Given the description of an element on the screen output the (x, y) to click on. 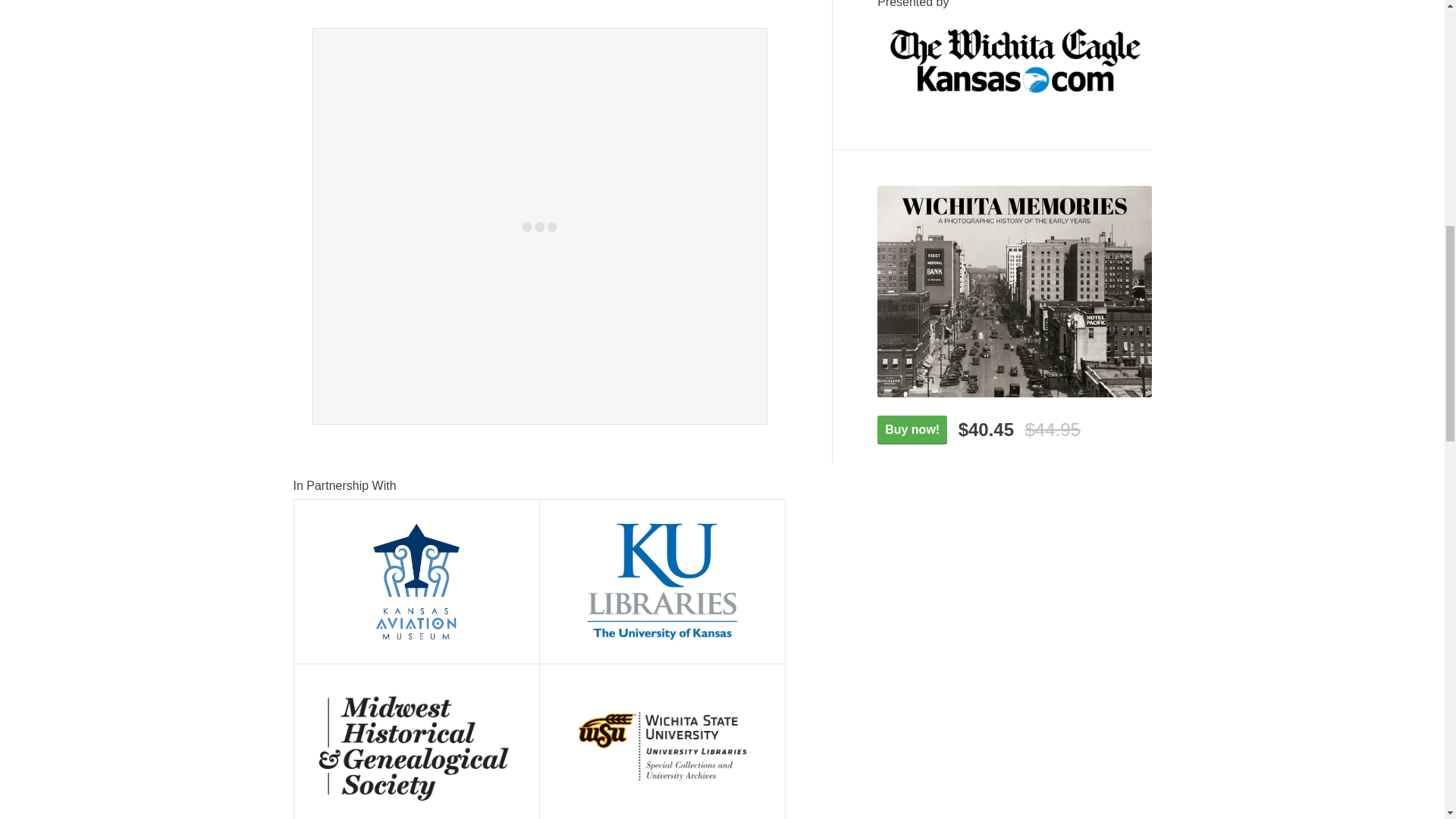
Buy now! (912, 430)
Kenneth Spencer Research Library  (662, 581)
